Given the description of an element on the screen output the (x, y) to click on. 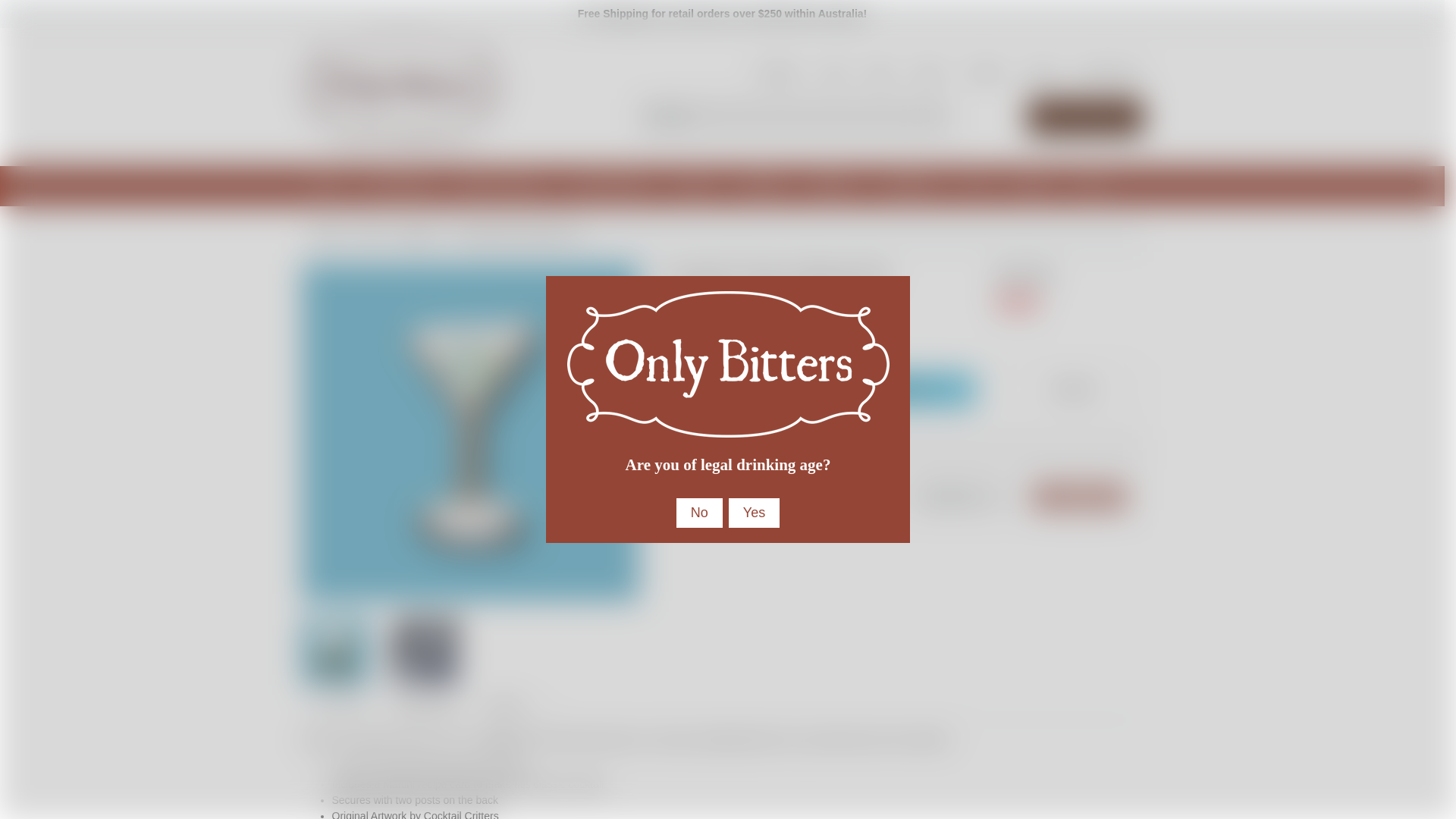
Liquor (696, 185)
Add To Wishlist (1069, 388)
Fortified (763, 185)
Contact (984, 72)
Only Bitters (401, 96)
Products (777, 72)
1 (733, 388)
Calculate (1079, 497)
New Products (400, 185)
Sale (328, 185)
Gifts (833, 72)
About (928, 72)
Blog (879, 72)
My Account (1104, 72)
